Given the description of an element on the screen output the (x, y) to click on. 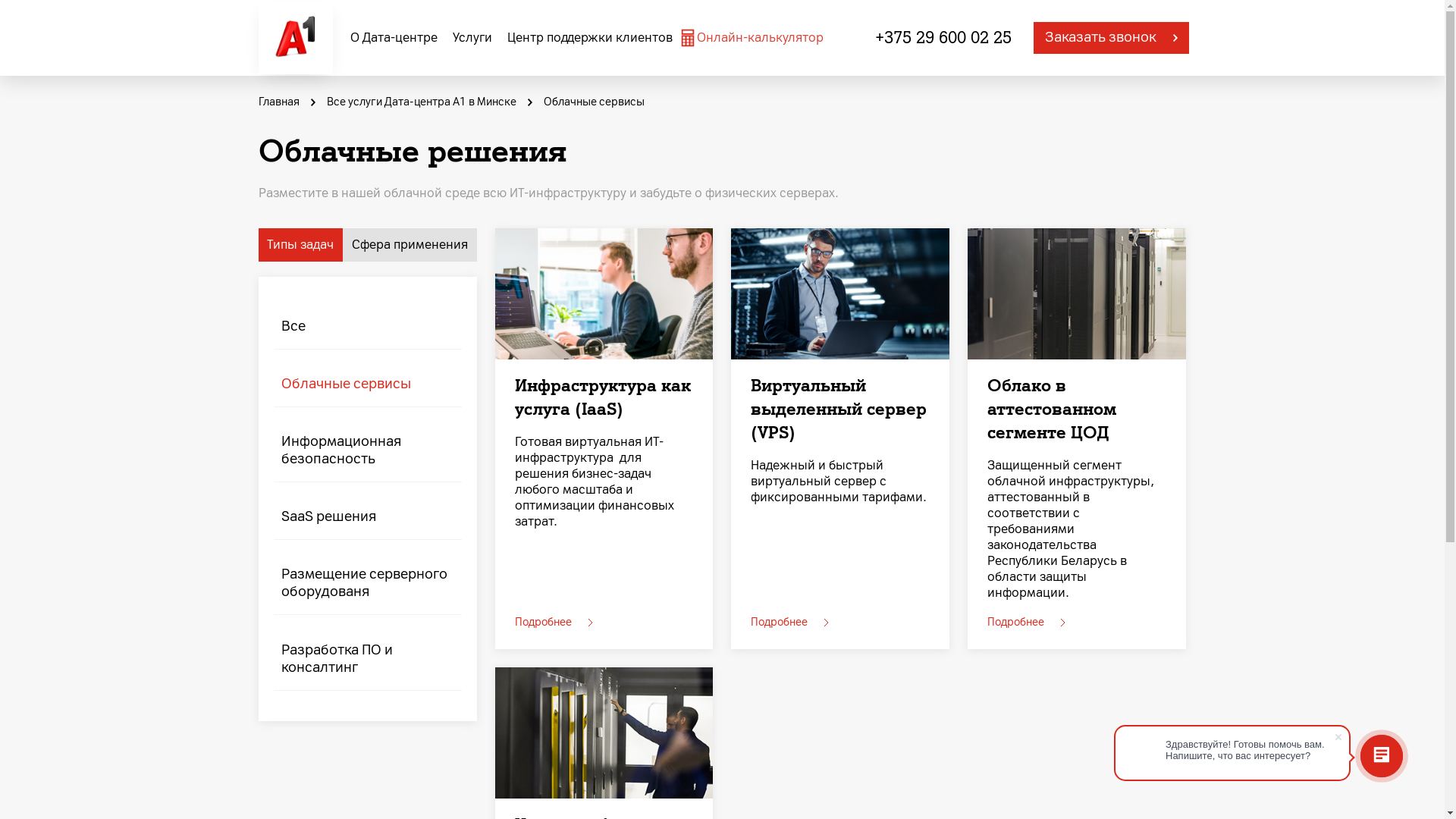
+375 29 600 02 25 Element type: text (943, 38)
